Given the description of an element on the screen output the (x, y) to click on. 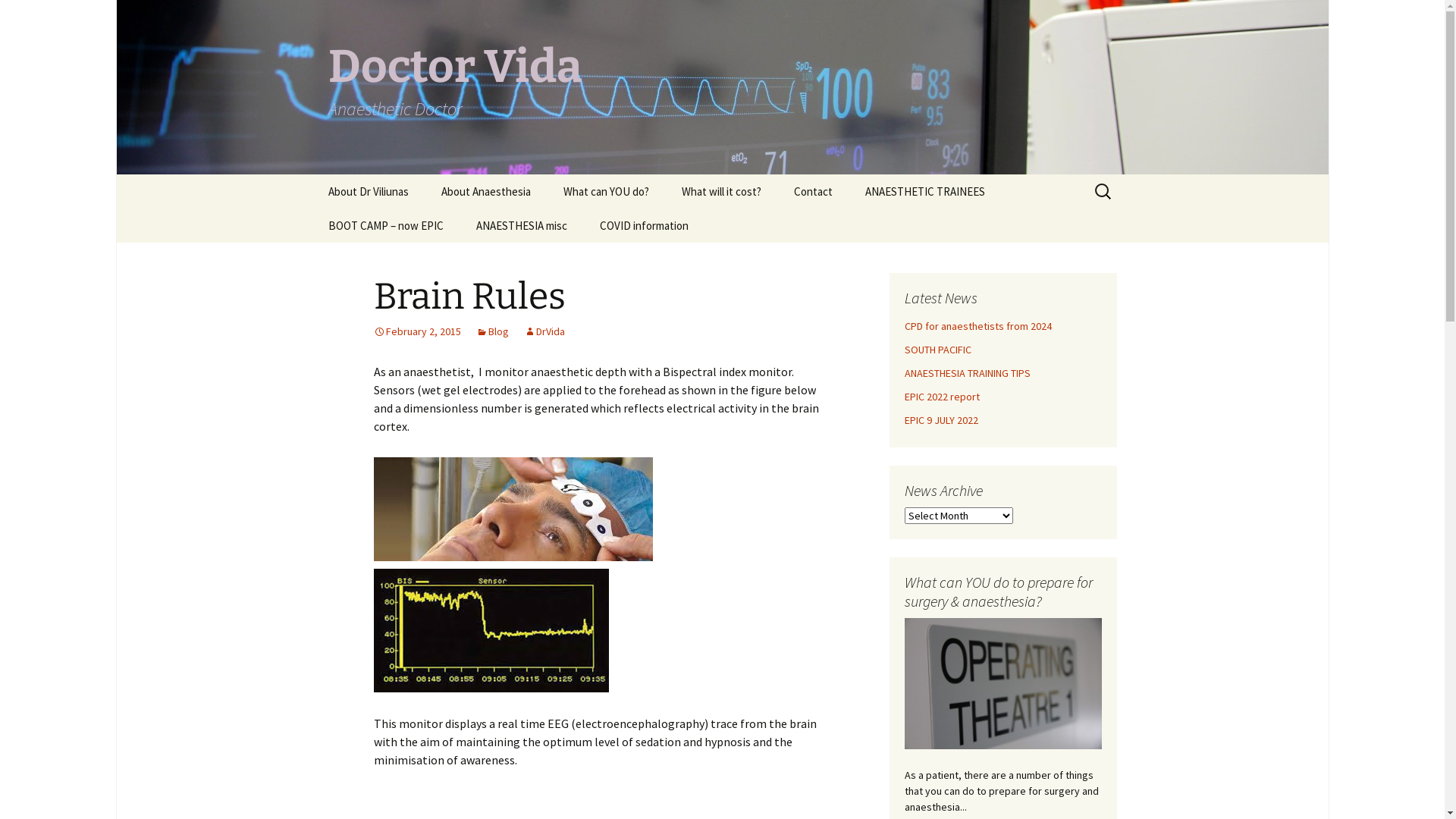
DrVida Element type: text (543, 331)
Blog Element type: text (492, 331)
EPIC 2022 report Element type: text (941, 396)
Contact Element type: text (812, 191)
Other information on anaesthesia Element type: text (501, 231)
EXAM TIPS and the elixir of life Element type: text (925, 231)
Search Element type: text (18, 16)
ANAESTHESIA misc Element type: text (521, 225)
COVID information Element type: text (642, 225)
EPIC 9 JULY 2022 Element type: text (940, 419)
About Anaesthesia Element type: text (486, 191)
Doctor Vida
Anaesthetic Doctor Element type: text (721, 87)
Skip to content Element type: text (312, 173)
February 2, 2015 Element type: text (416, 331)
ANAESTHESIA TRAINING TIPS Element type: text (966, 372)
What will it cost? Element type: text (720, 191)
About Dr Viliunas Element type: text (367, 191)
What can YOU do? Element type: text (605, 191)
ANAESTHETIC TRAINEES Element type: text (924, 191)
CPD for anaesthetists from 2024 Element type: text (977, 325)
SOUTH PACIFIC Element type: text (936, 349)
